Given the description of an element on the screen output the (x, y) to click on. 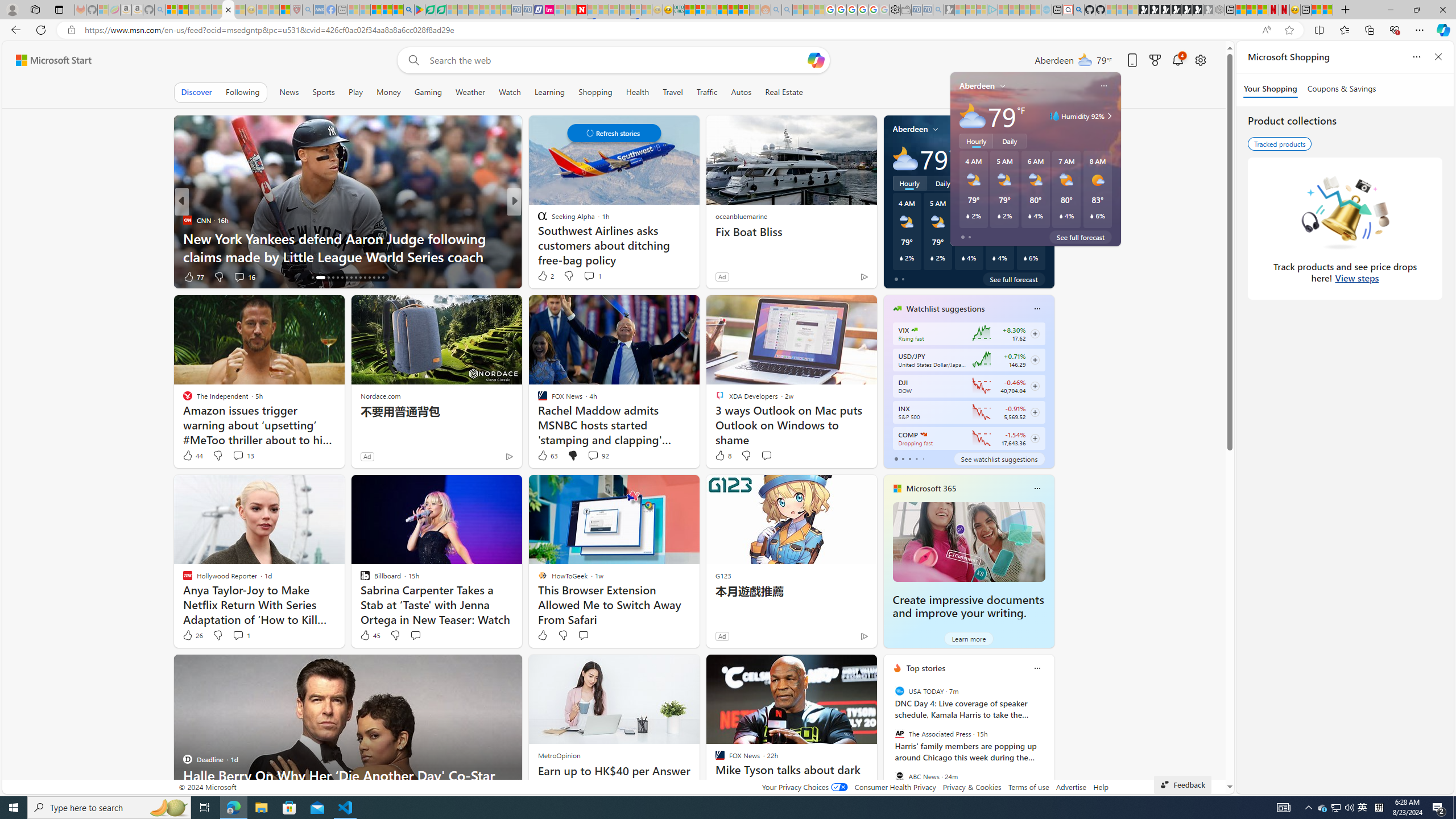
AutomationID: tab-22 (346, 277)
8 Like (722, 455)
Class: follow-button  m (1034, 438)
Complicated app settings are a threat to user privacy (697, 256)
tab-1 (903, 458)
NASDAQ (923, 434)
Top stories (925, 668)
